Given the description of an element on the screen output the (x, y) to click on. 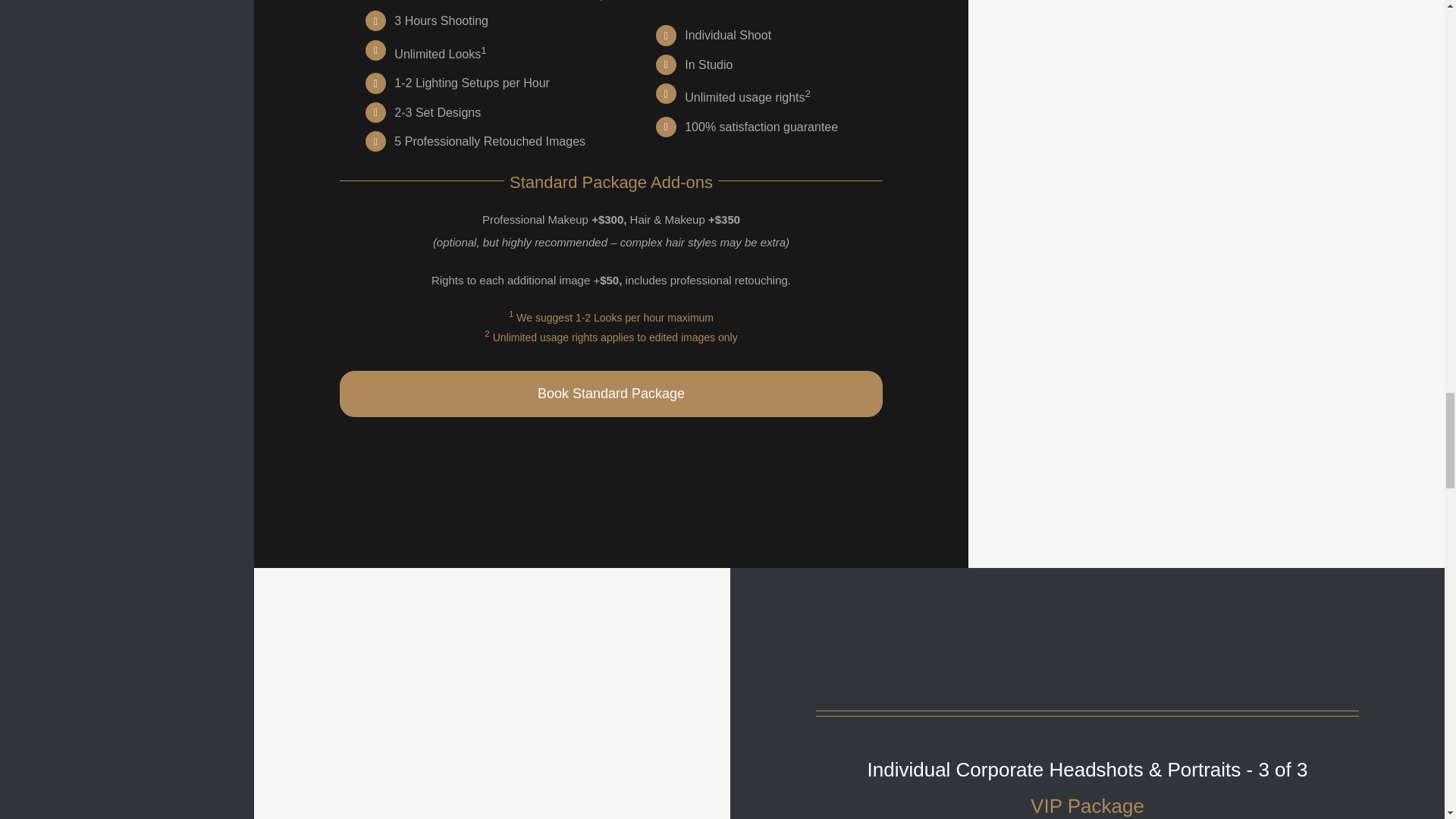
Book Standard Package (610, 393)
